Given the description of an element on the screen output the (x, y) to click on. 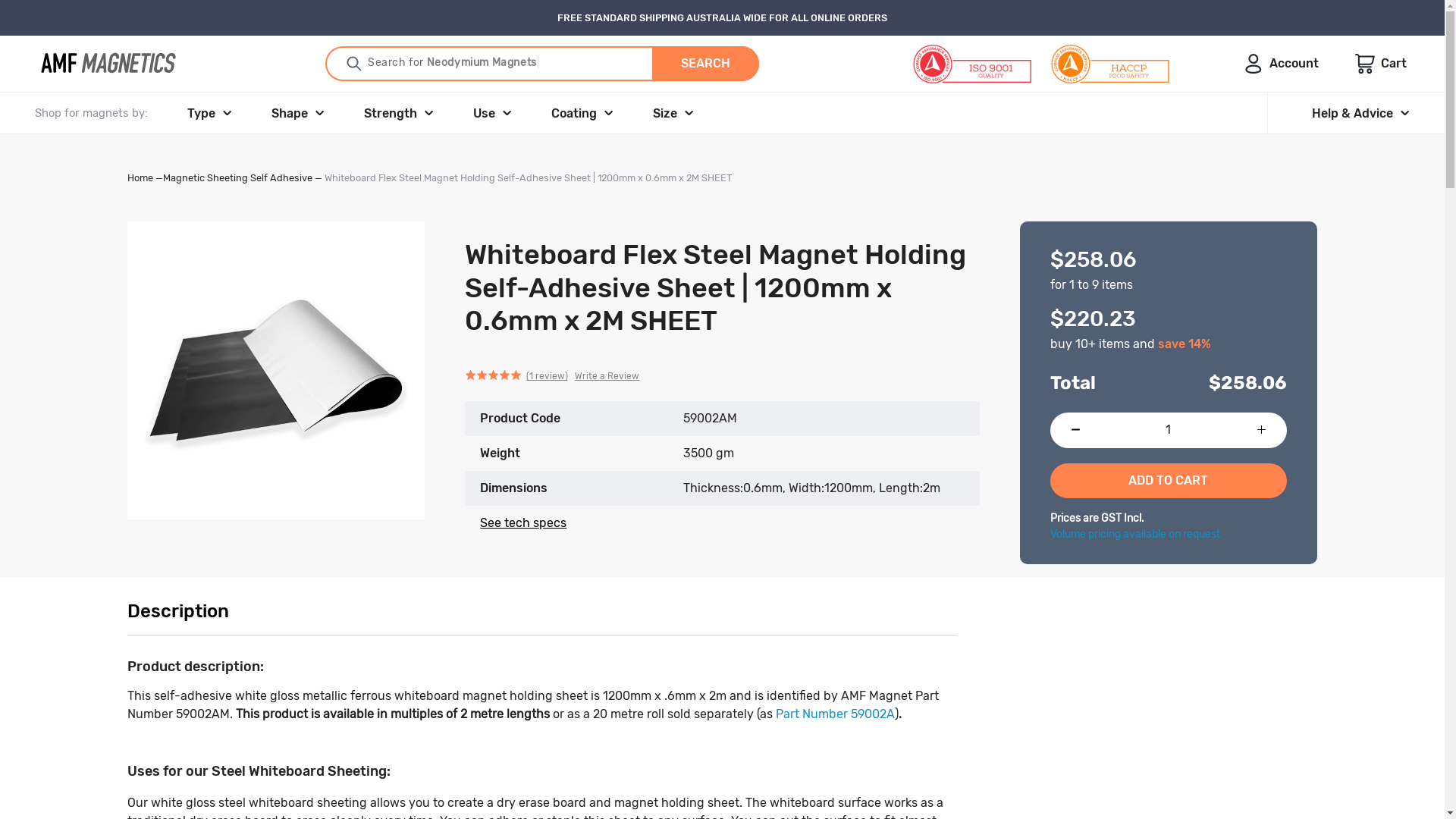
Shape Element type: text (297, 112)
Part Number 59002A Element type: text (834, 713)
Cart Element type: text (1380, 63)
Account Element type: text (1280, 63)
SEARCH Element type: text (705, 63)
ADD TO CART Element type: text (1168, 480)
Type Element type: text (209, 112)
Magnetic Sheeting Self Adhesive Element type: text (237, 177)
Strength Element type: text (398, 112)
Description Element type: text (541, 611)
Home Element type: hover (110, 63)
Volume pricing available on request Element type: text (1135, 533)
Help & Advice Element type: text (1360, 112)
Write a Review Element type: text (606, 376)
Coating Element type: text (582, 112)
Size Element type: text (673, 112)
See tech specs Element type: text (522, 522)
Home Element type: text (140, 177)
Use Element type: text (492, 112)
